Given the description of an element on the screen output the (x, y) to click on. 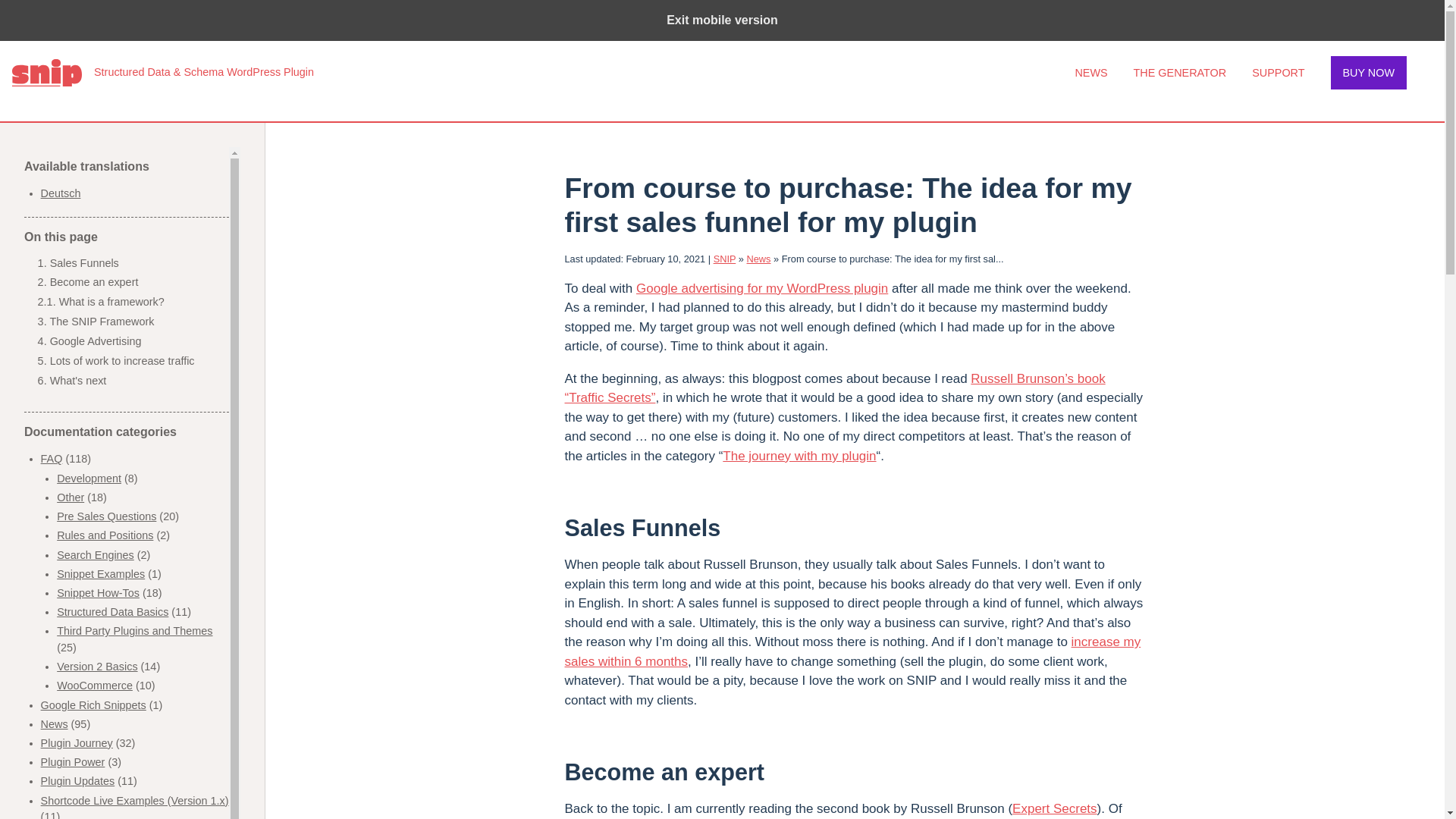
Deutsch (60, 193)
News (54, 724)
Google Advertising (95, 340)
What is a framework? (111, 301)
SNIP (724, 258)
Plugin Power (72, 761)
Become an expert (93, 282)
Search Engines (94, 554)
Rules and Positions (104, 535)
Version 2 Basics (96, 666)
Other (70, 497)
BUY NOW (1368, 72)
THE GENERATOR (1180, 72)
Plugin Updates (77, 780)
Snippet Examples (100, 573)
